Given the description of an element on the screen output the (x, y) to click on. 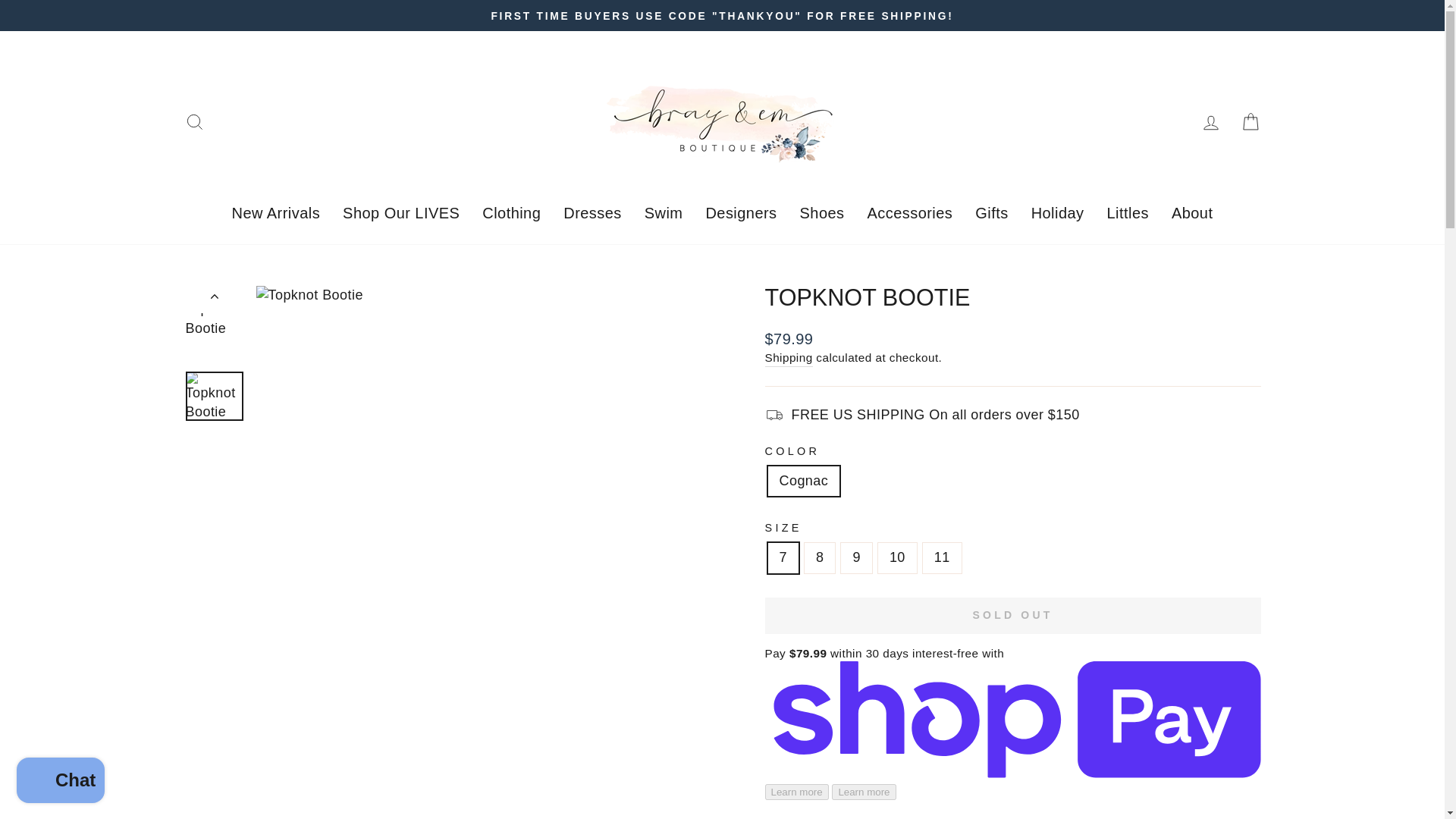
Shopify online store chat (60, 781)
